Given the description of an element on the screen output the (x, y) to click on. 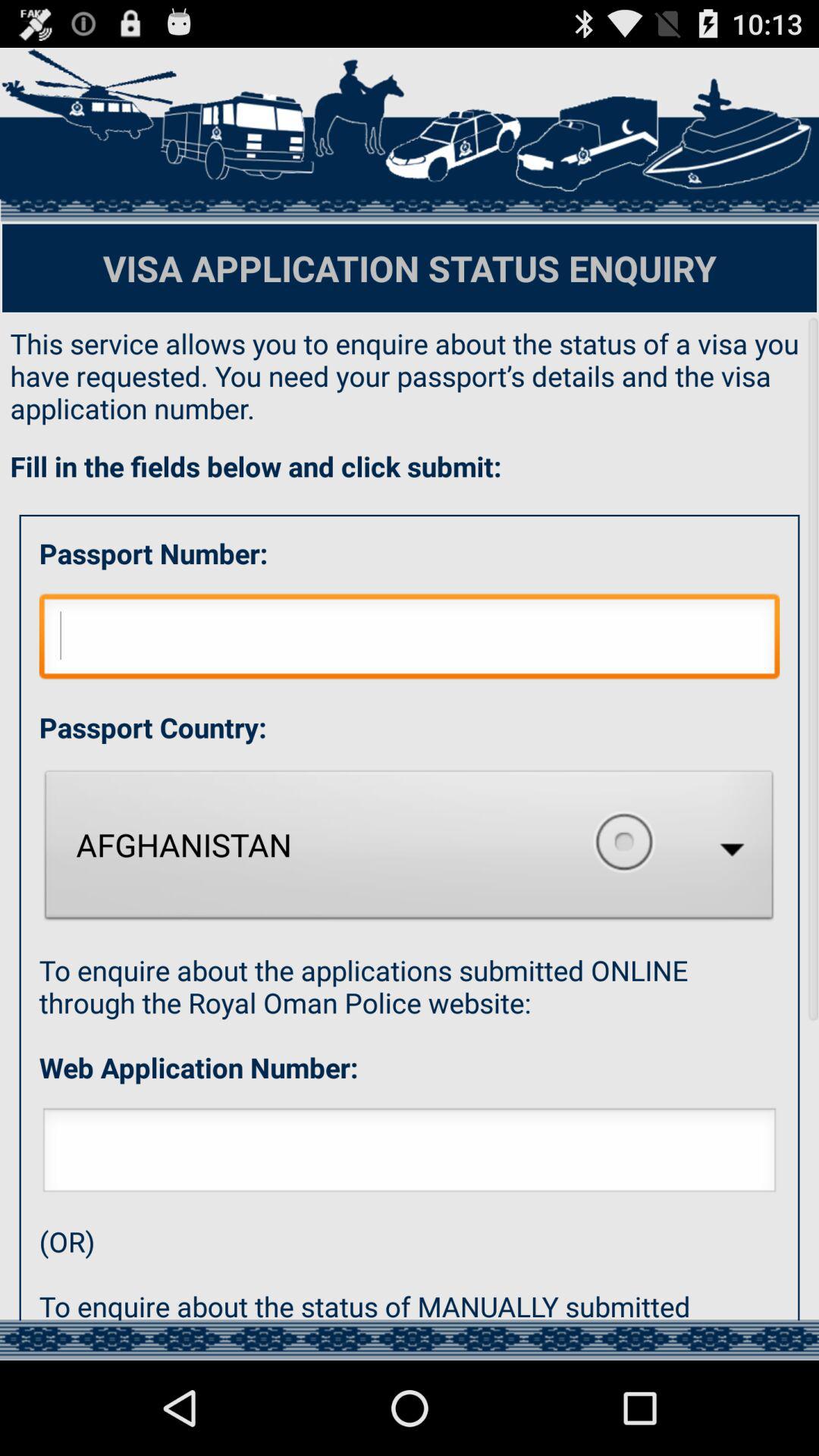
shows enter passport number area (409, 640)
